Given the description of an element on the screen output the (x, y) to click on. 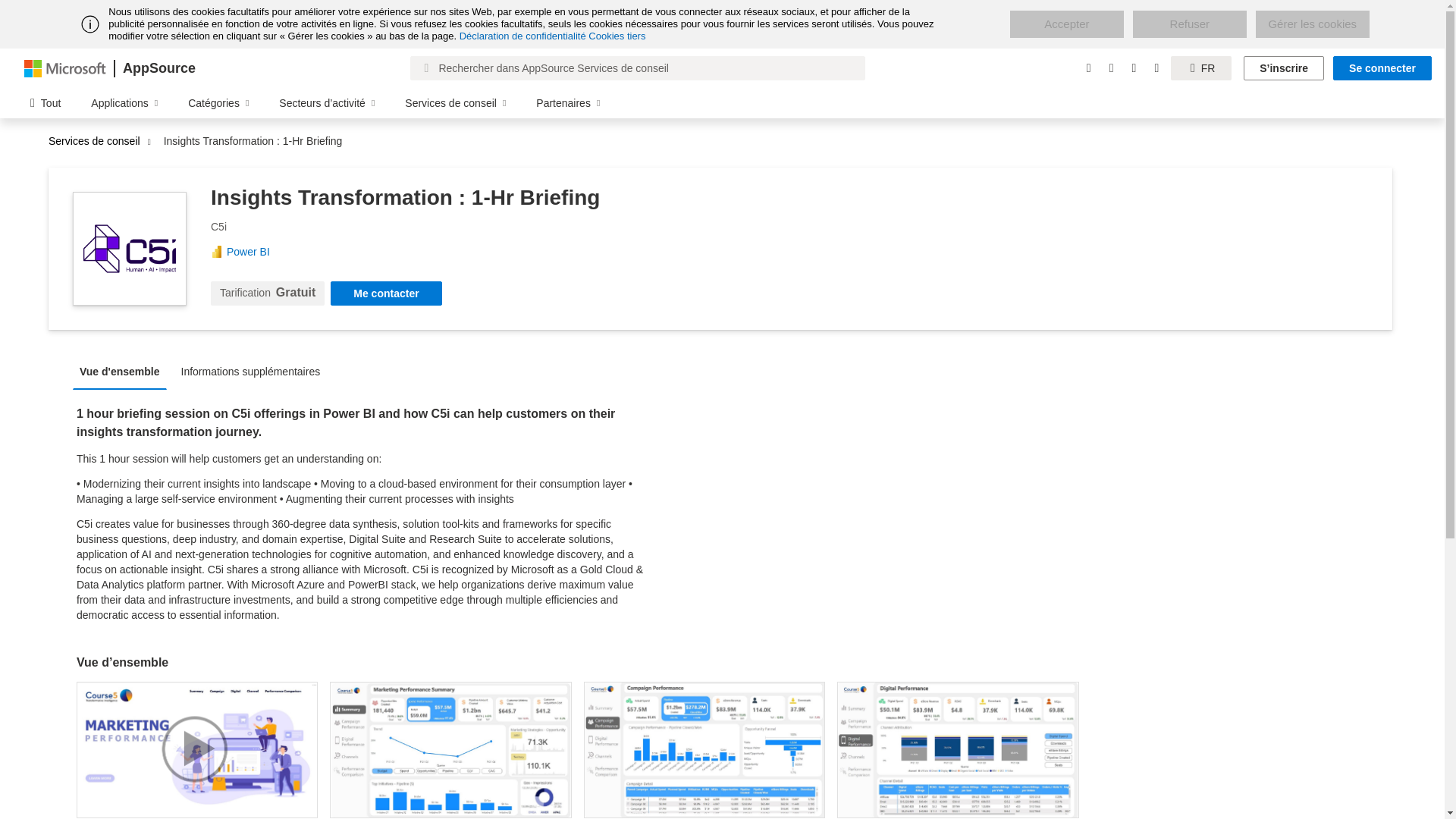
Services de conseil (98, 141)
Microsoft (65, 67)
Me contacter (385, 293)
AppSource (158, 67)
Power BI (254, 251)
Power BI (254, 251)
Vue d'ensemble (123, 370)
Refuser (1189, 23)
Cookies tiers (616, 35)
Se connecter (1382, 68)
Accepter (1067, 23)
